Given the description of an element on the screen output the (x, y) to click on. 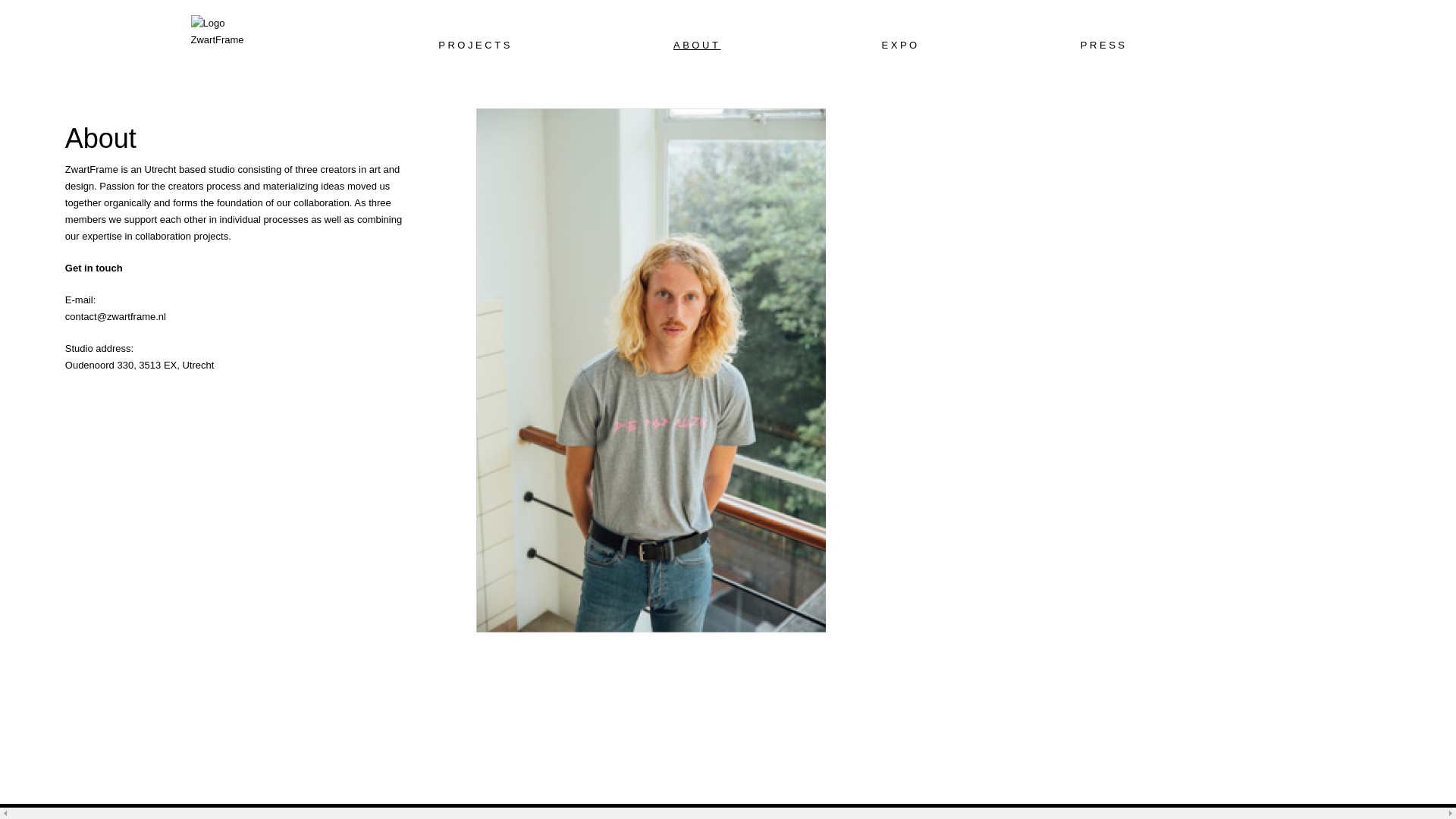
PRESS (1096, 45)
EXPO (892, 45)
PROJECTS (468, 45)
ABOUT (690, 45)
